Given the description of an element on the screen output the (x, y) to click on. 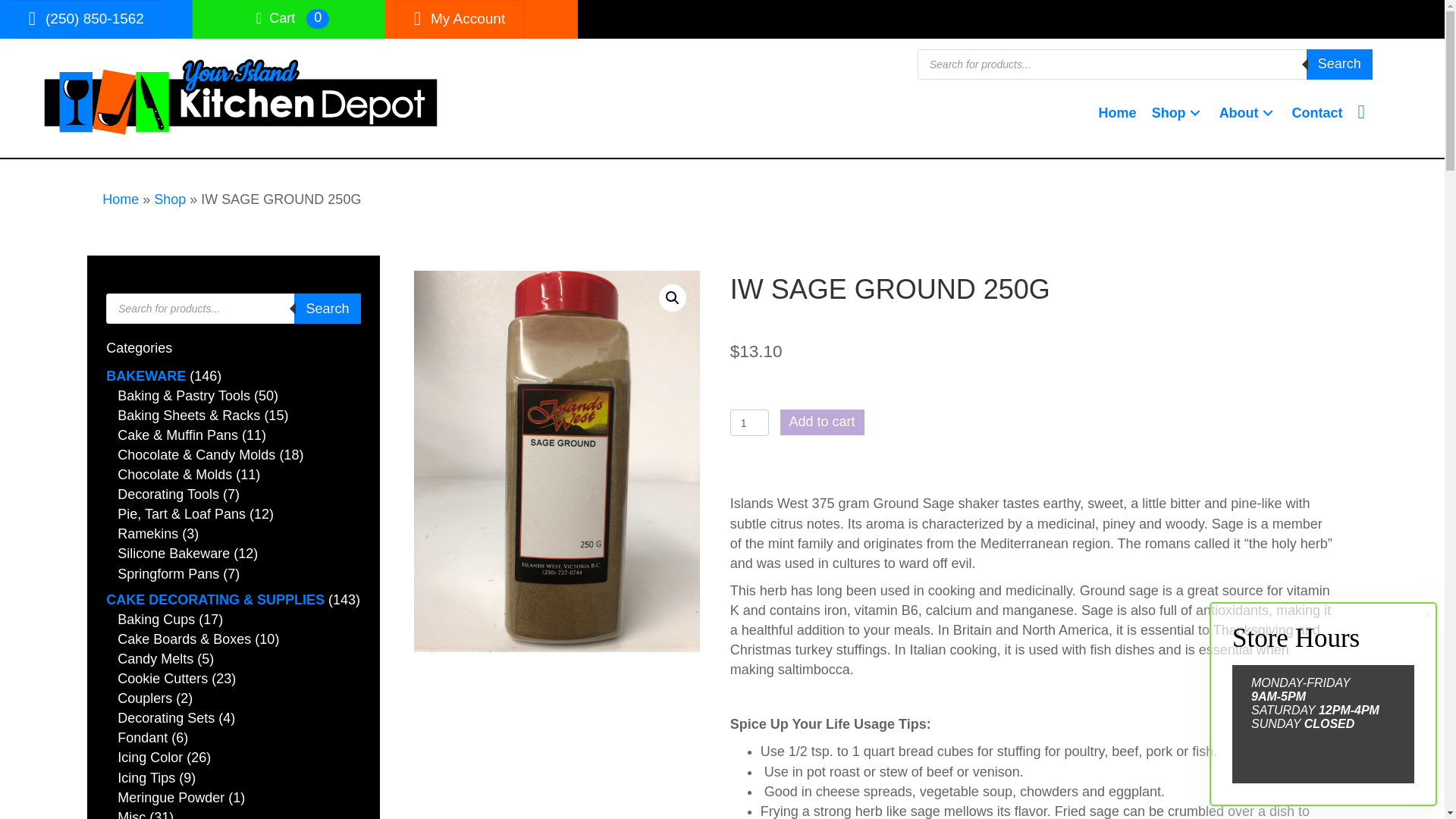
1 (749, 422)
View your shopping cart (276, 17)
your island kitchen logo (240, 98)
